Given the description of an element on the screen output the (x, y) to click on. 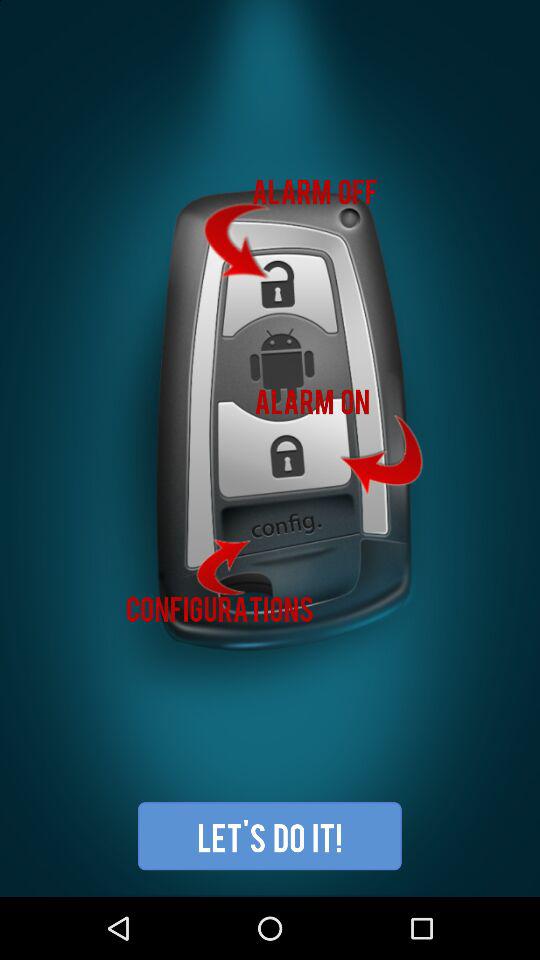
main page menu (269, 448)
